Given the description of an element on the screen output the (x, y) to click on. 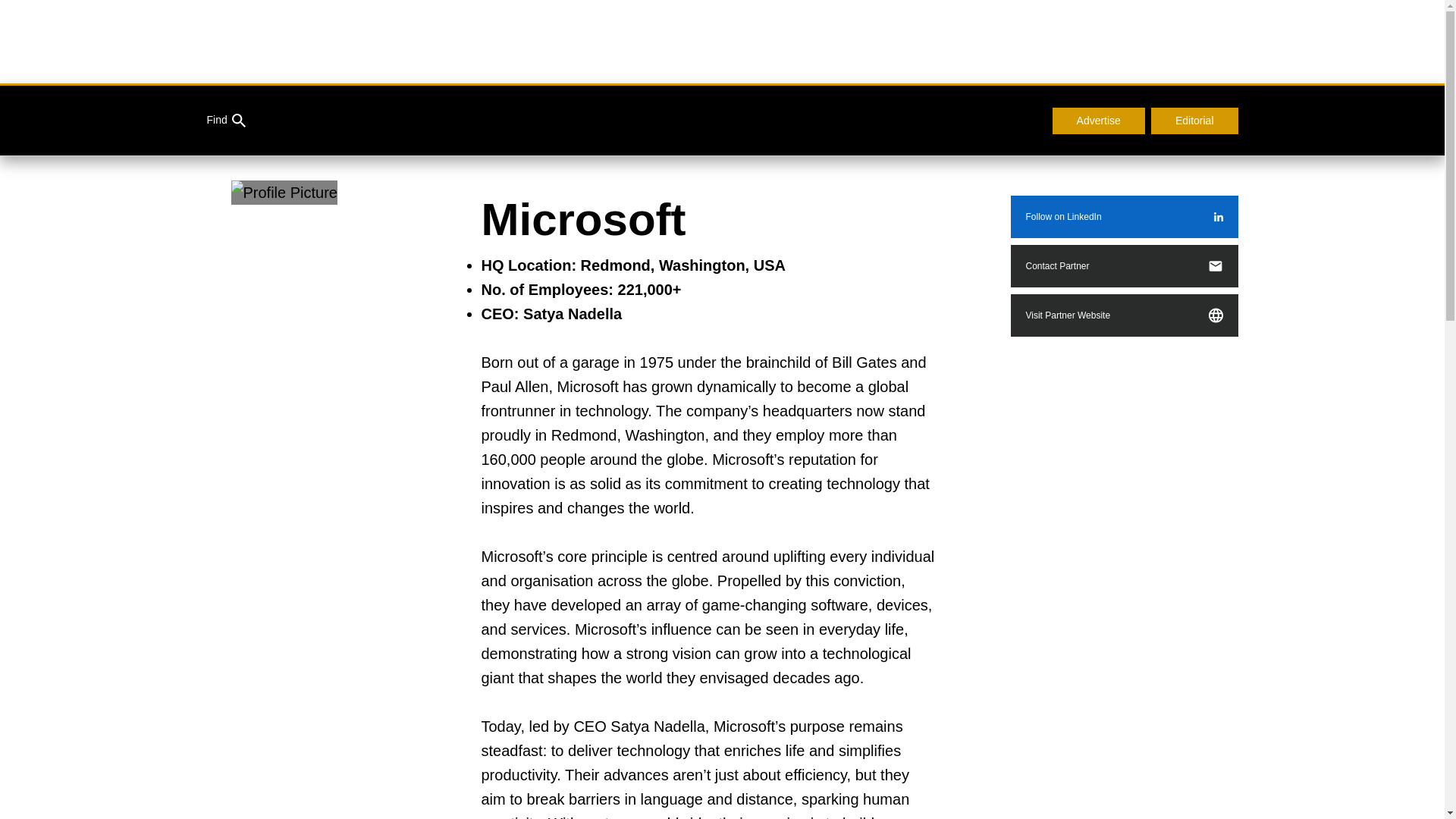
Editorial (1195, 121)
Visit Partner Website (1123, 315)
Find (225, 120)
Advertise (1098, 121)
Follow on LinkedIn (1123, 216)
Contact Partner (1123, 265)
